Given the description of an element on the screen output the (x, y) to click on. 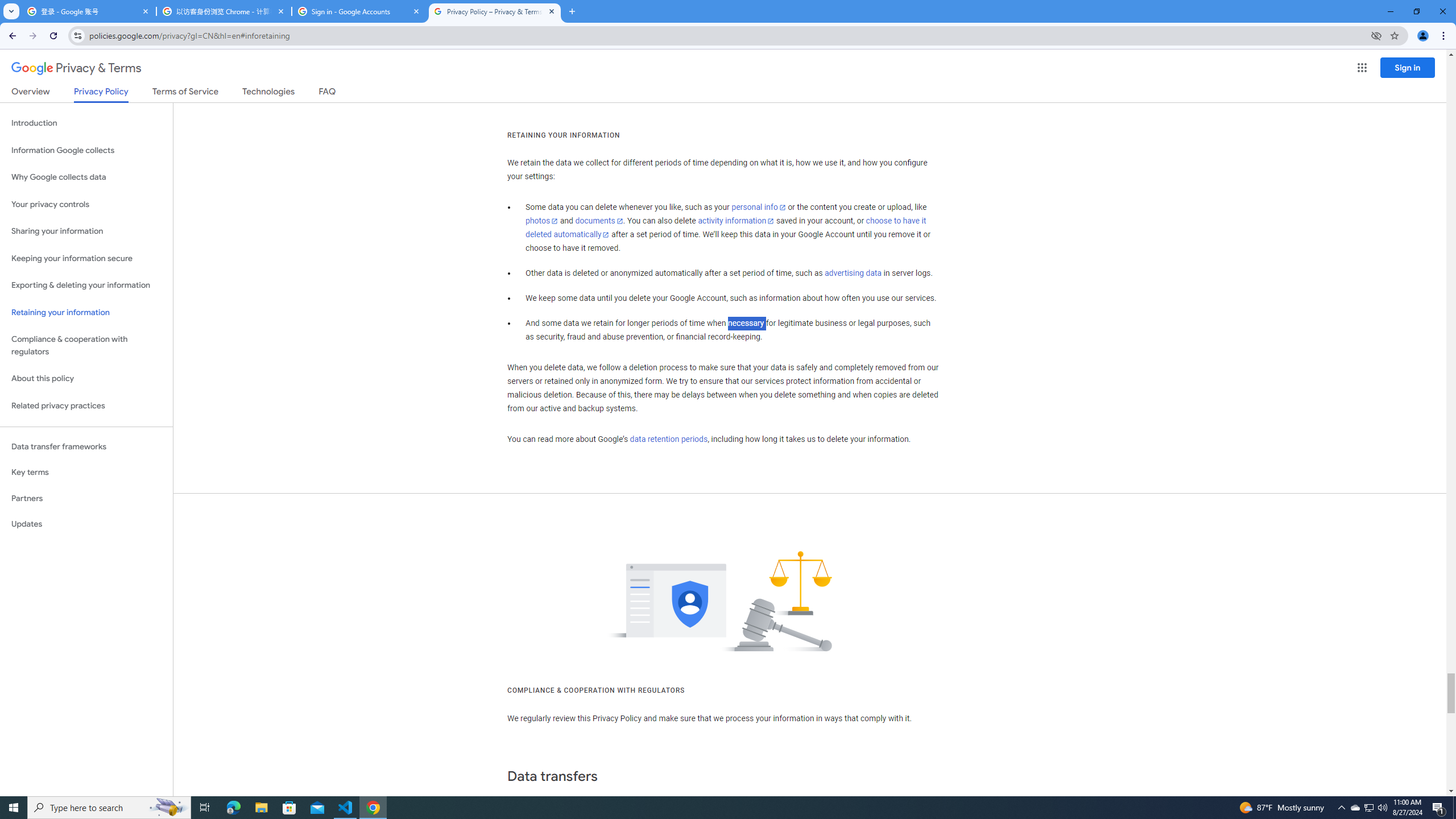
Sign in - Google Accounts (359, 11)
Why Google collects data (86, 176)
choose to have it deleted automatically (725, 227)
Related privacy practices (86, 405)
About this policy (86, 379)
advertising data (852, 273)
Key terms (86, 472)
